Given the description of an element on the screen output the (x, y) to click on. 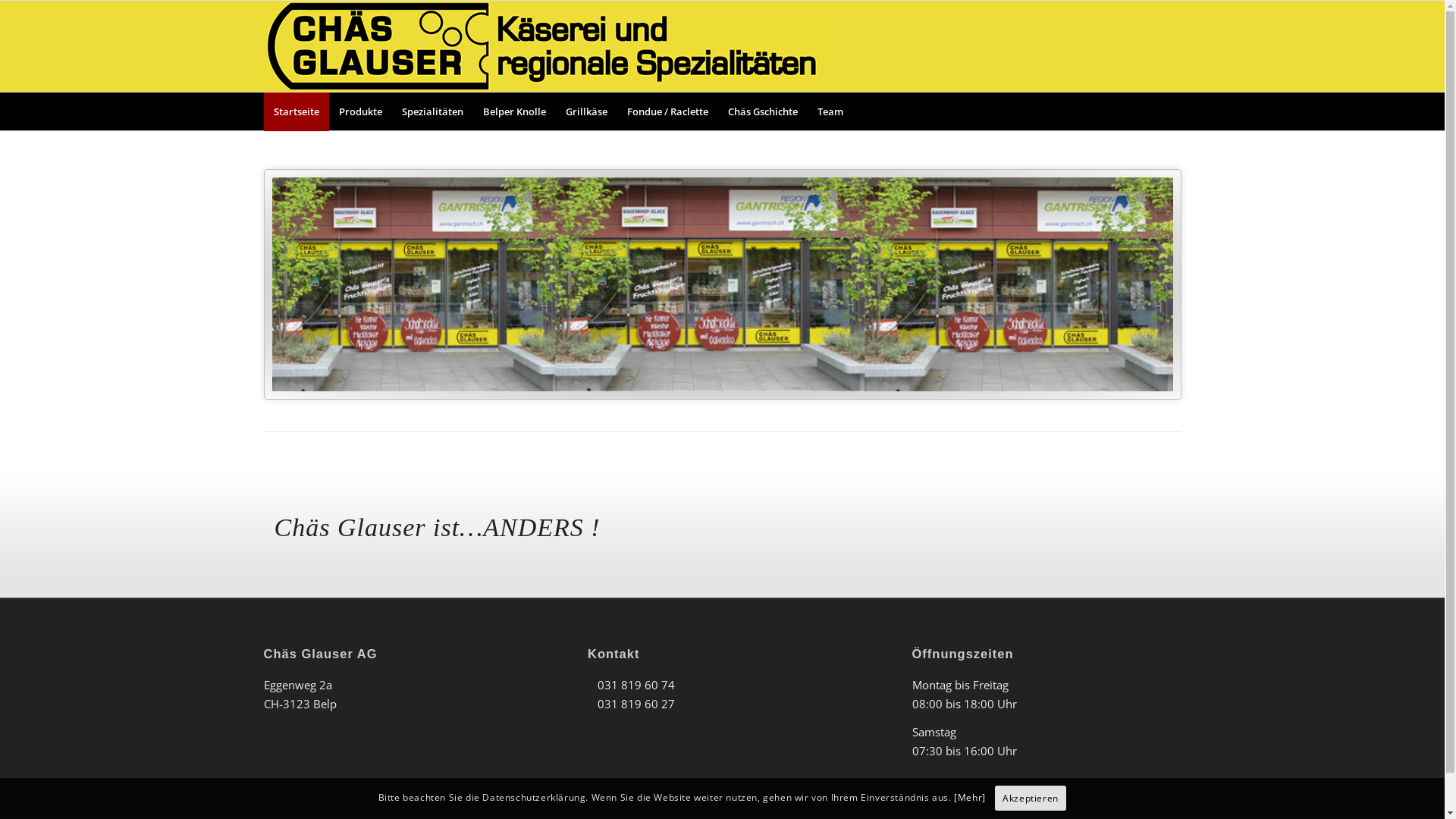
Belper Knolle Element type: text (514, 111)
Akzeptieren Element type: text (1030, 798)
[Mehr] Element type: text (969, 797)
Produkte Element type: text (360, 111)
Fondue / Raclette Element type: text (667, 111)
Team Element type: text (829, 111)
Startseite Element type: text (296, 111)
